Given the description of an element on the screen output the (x, y) to click on. 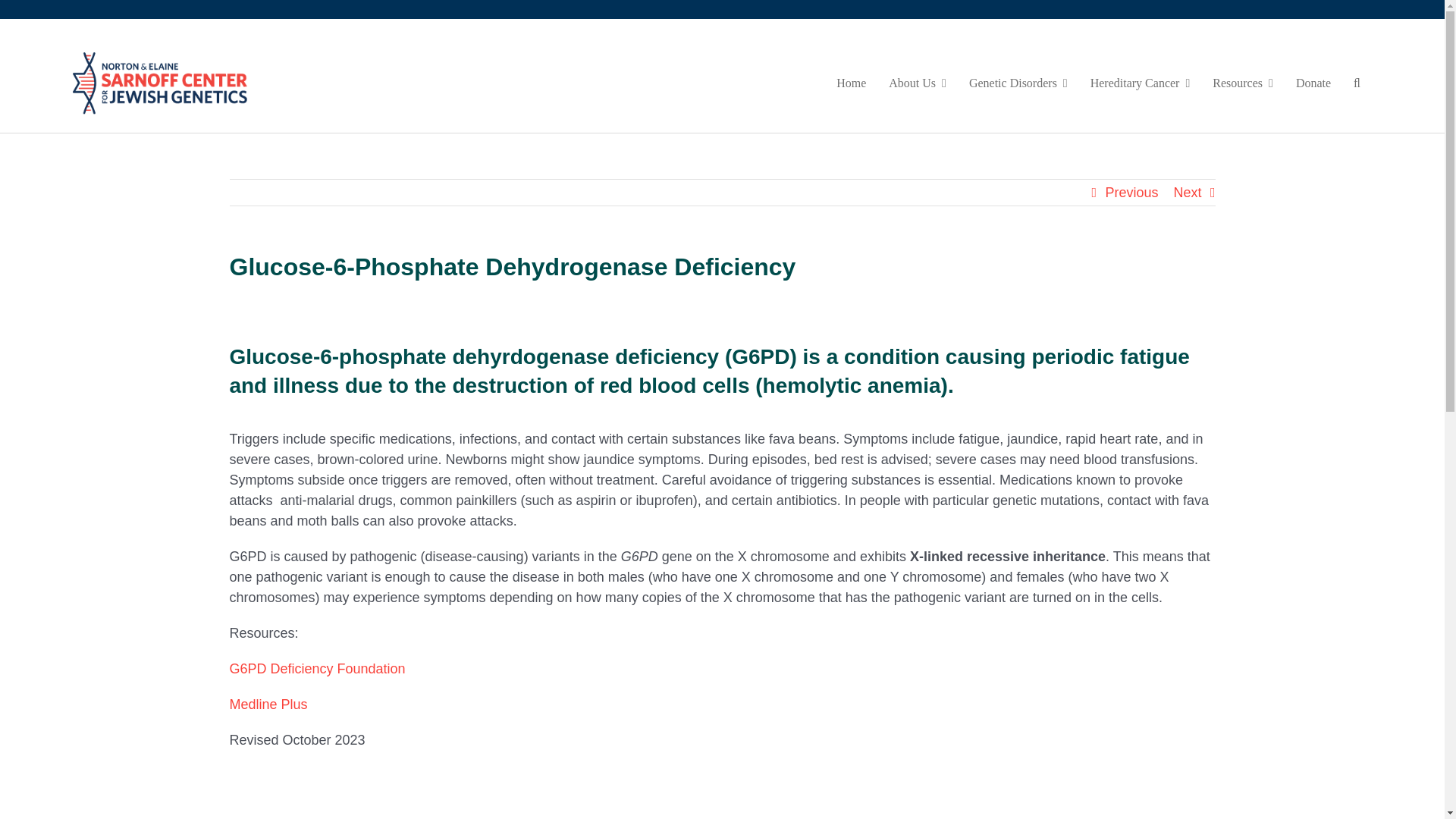
Hereditary Cancer (1140, 83)
Previous (1131, 192)
G6PD Deficiency Foundation (316, 668)
Next (1187, 192)
Genetic Disorders (1017, 83)
